Given the description of an element on the screen output the (x, y) to click on. 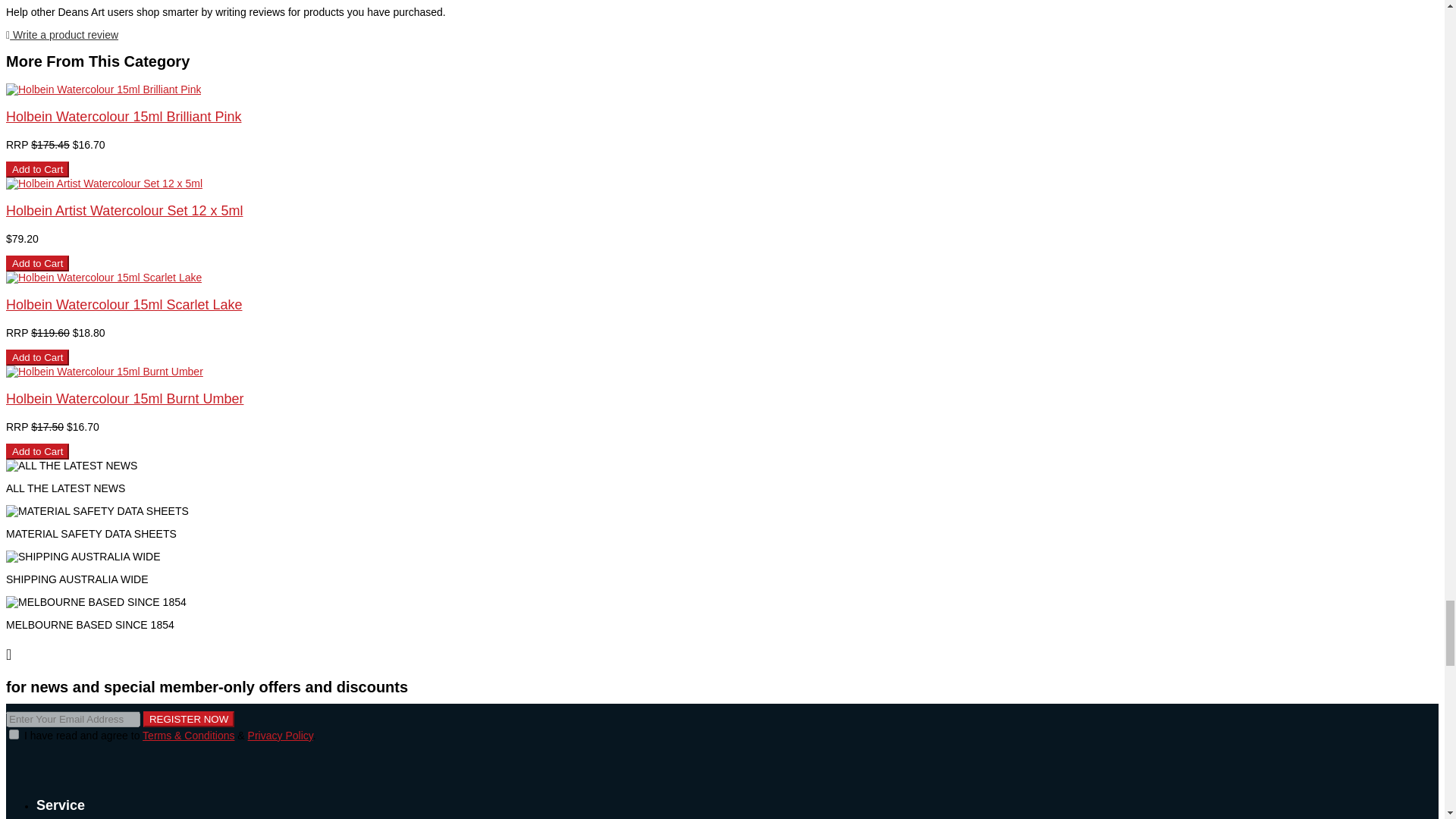
REGISTER NOW (188, 719)
Add Holbein Watercolour 15ml Burnt Umber to Cart (36, 451)
y (13, 734)
Add Holbein Watercolour 15ml Scarlet Lake to Cart (36, 357)
Add Holbein Artist Watercolour Set 12 x 5ml to Cart (36, 263)
Add Holbein Watercolour 15ml Brilliant Pink to Cart (36, 169)
